Given the description of an element on the screen output the (x, y) to click on. 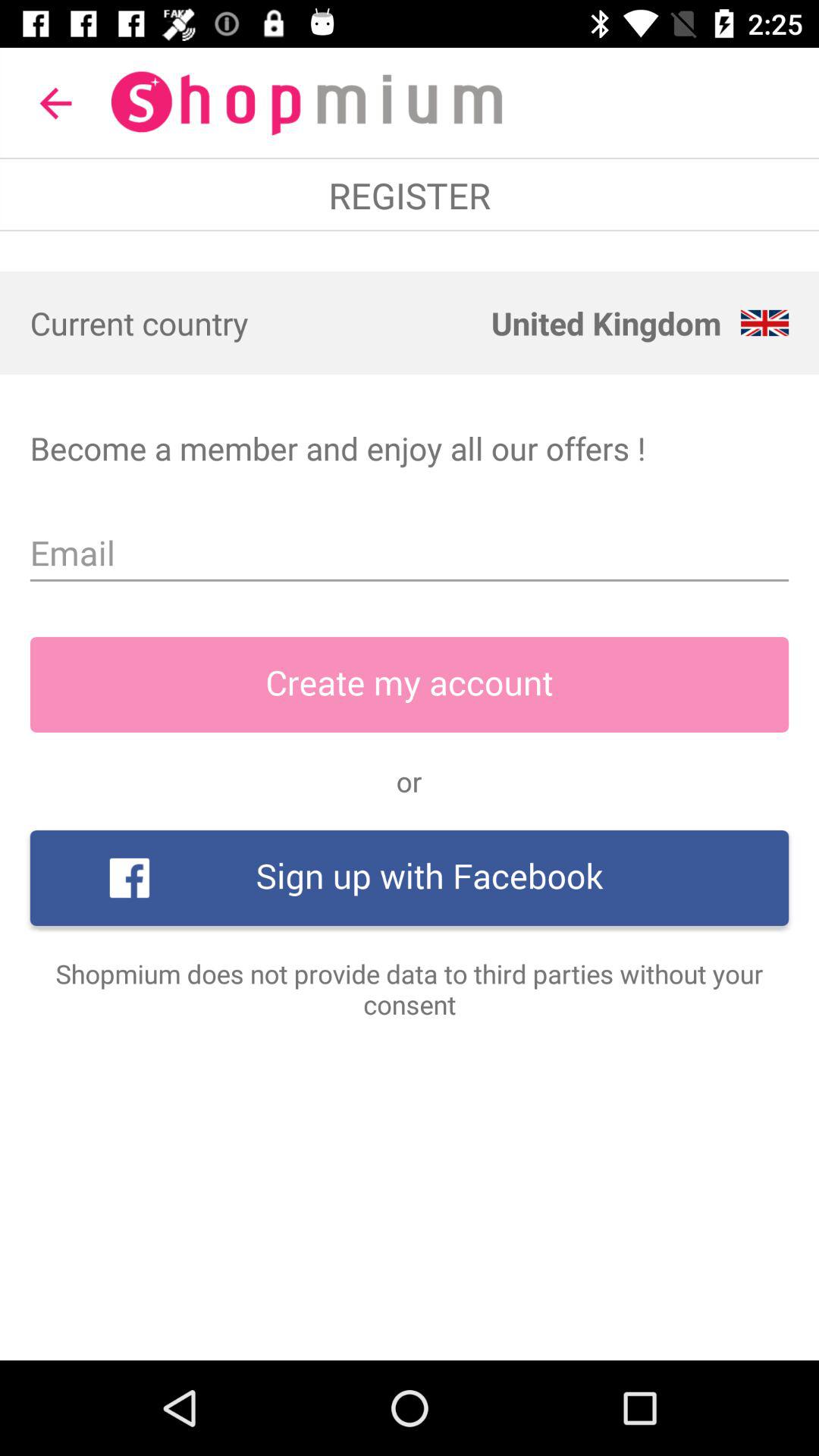
launch create my account icon (409, 684)
